Given the description of an element on the screen output the (x, y) to click on. 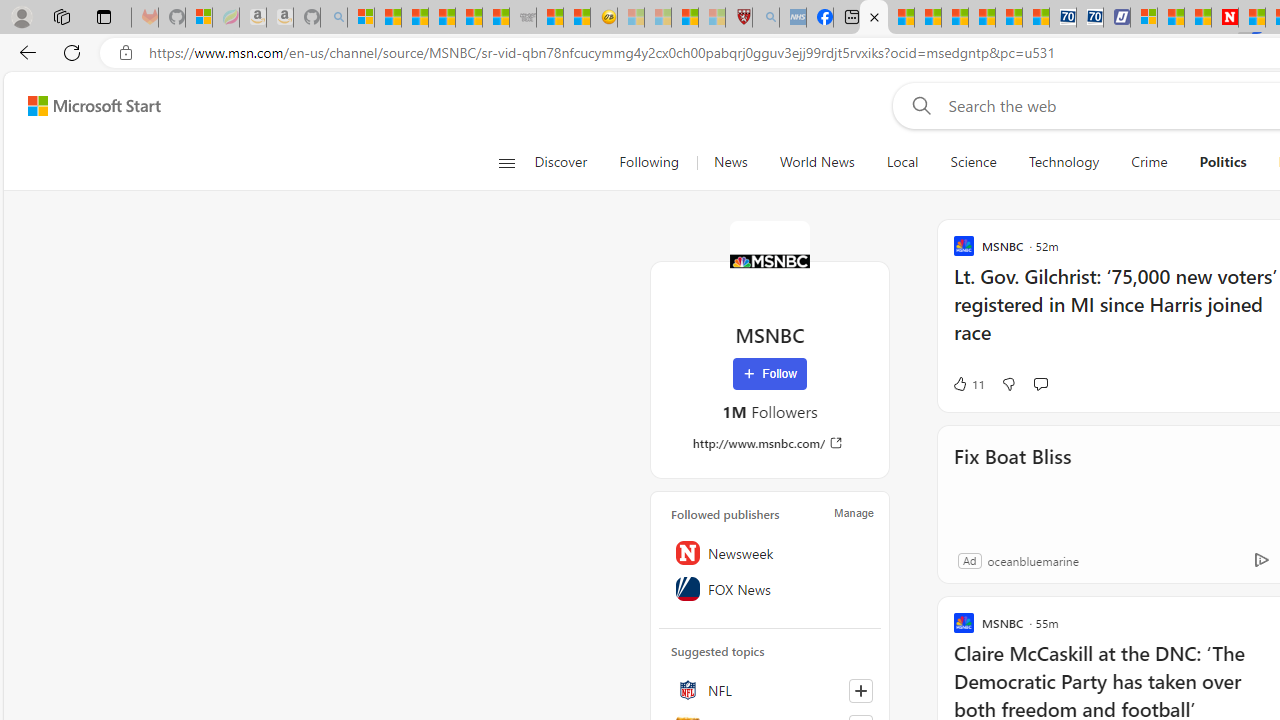
oceanbluemarine (1032, 560)
